Given the description of an element on the screen output the (x, y) to click on. 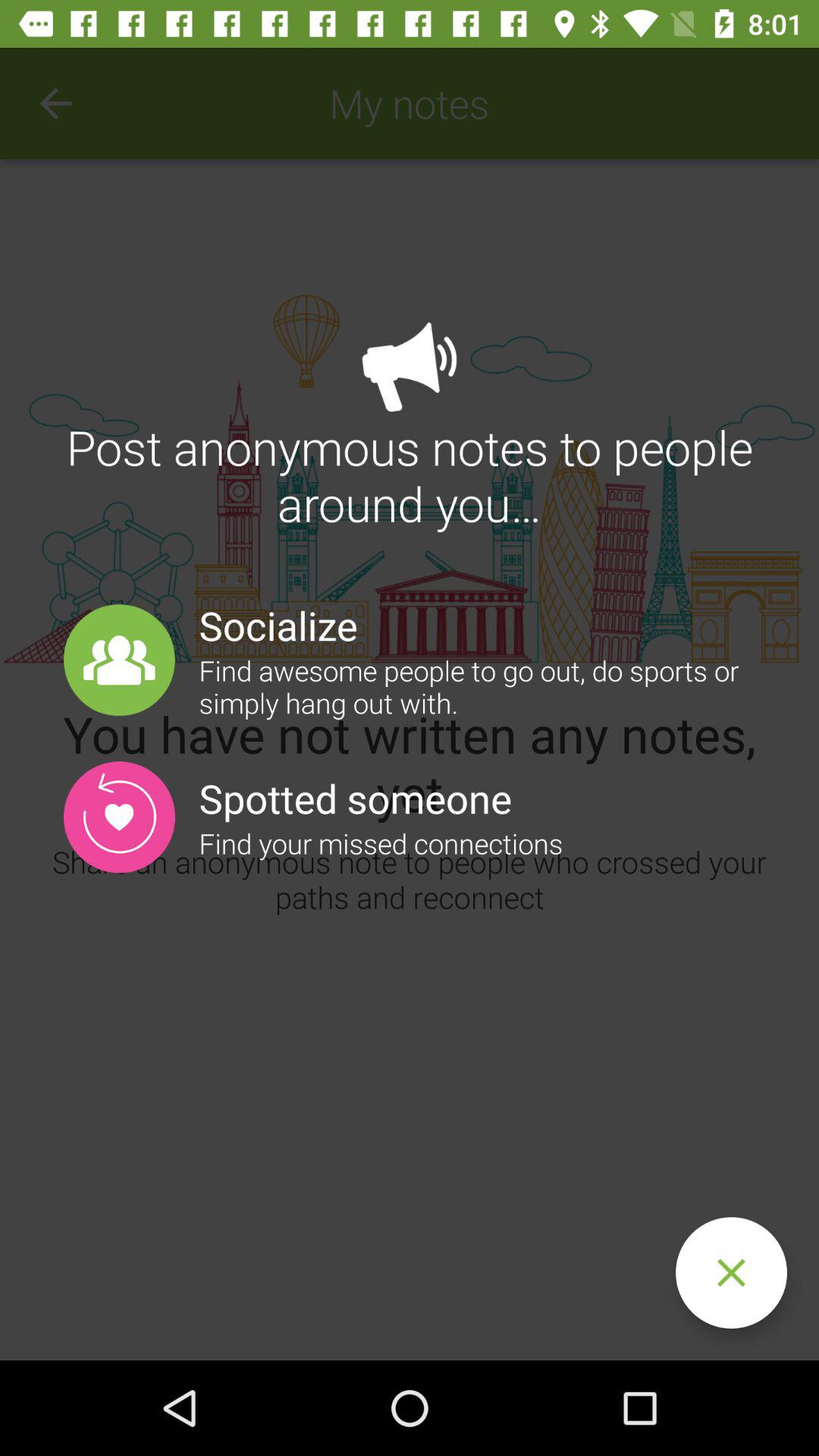
cancel (731, 1272)
